Given the description of an element on the screen output the (x, y) to click on. 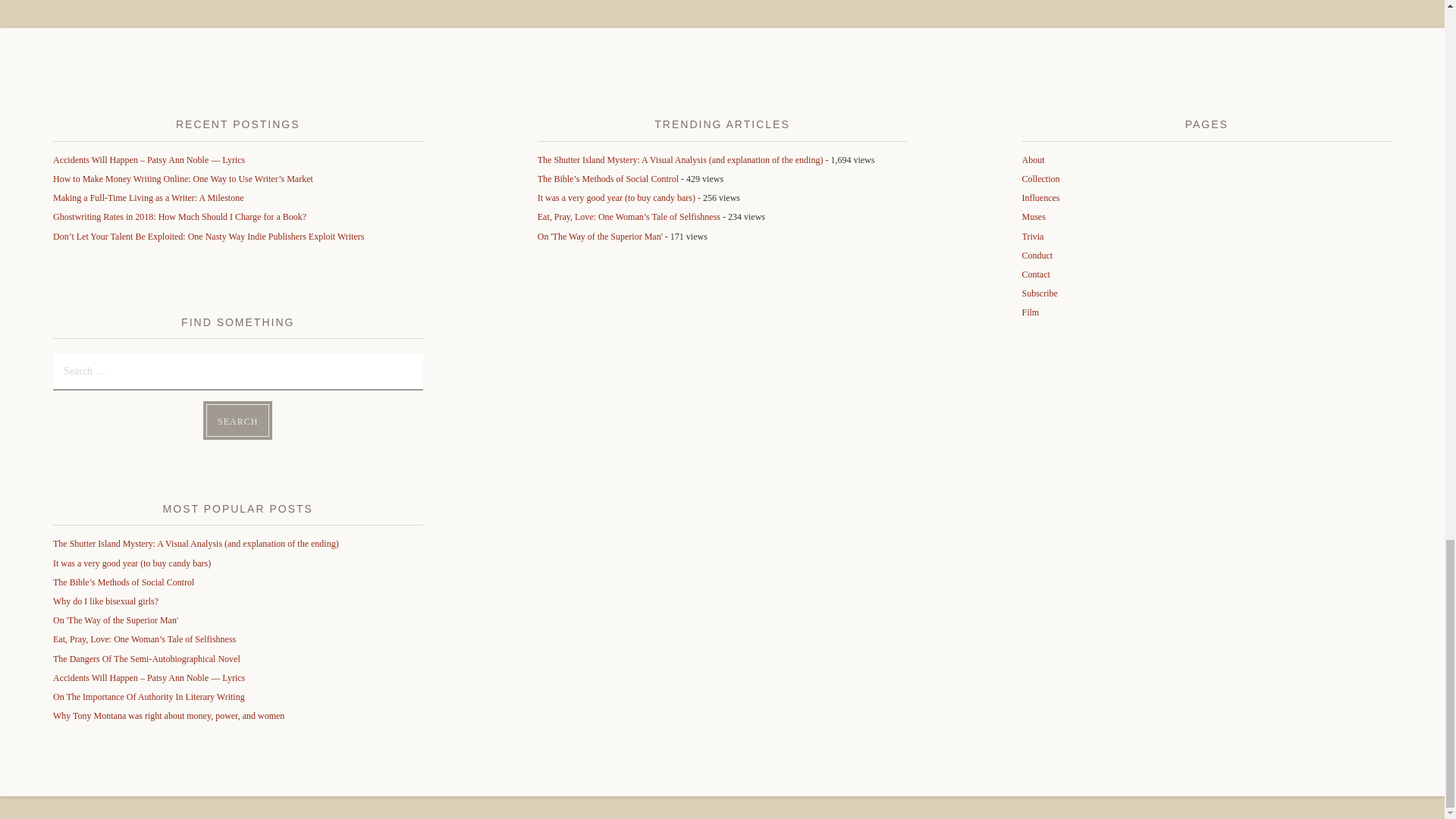
Search (237, 420)
Search (237, 420)
Why do I like bisexual girls? (105, 601)
The Dangers Of The Semi-Autobiographical Novel (146, 658)
On 'The Way of the Superior Man' (114, 620)
Making a Full-Time Living as a Writer: A Milestone (148, 197)
Search (237, 420)
On The Importance Of Authority In Literary Writing (148, 696)
